Given the description of an element on the screen output the (x, y) to click on. 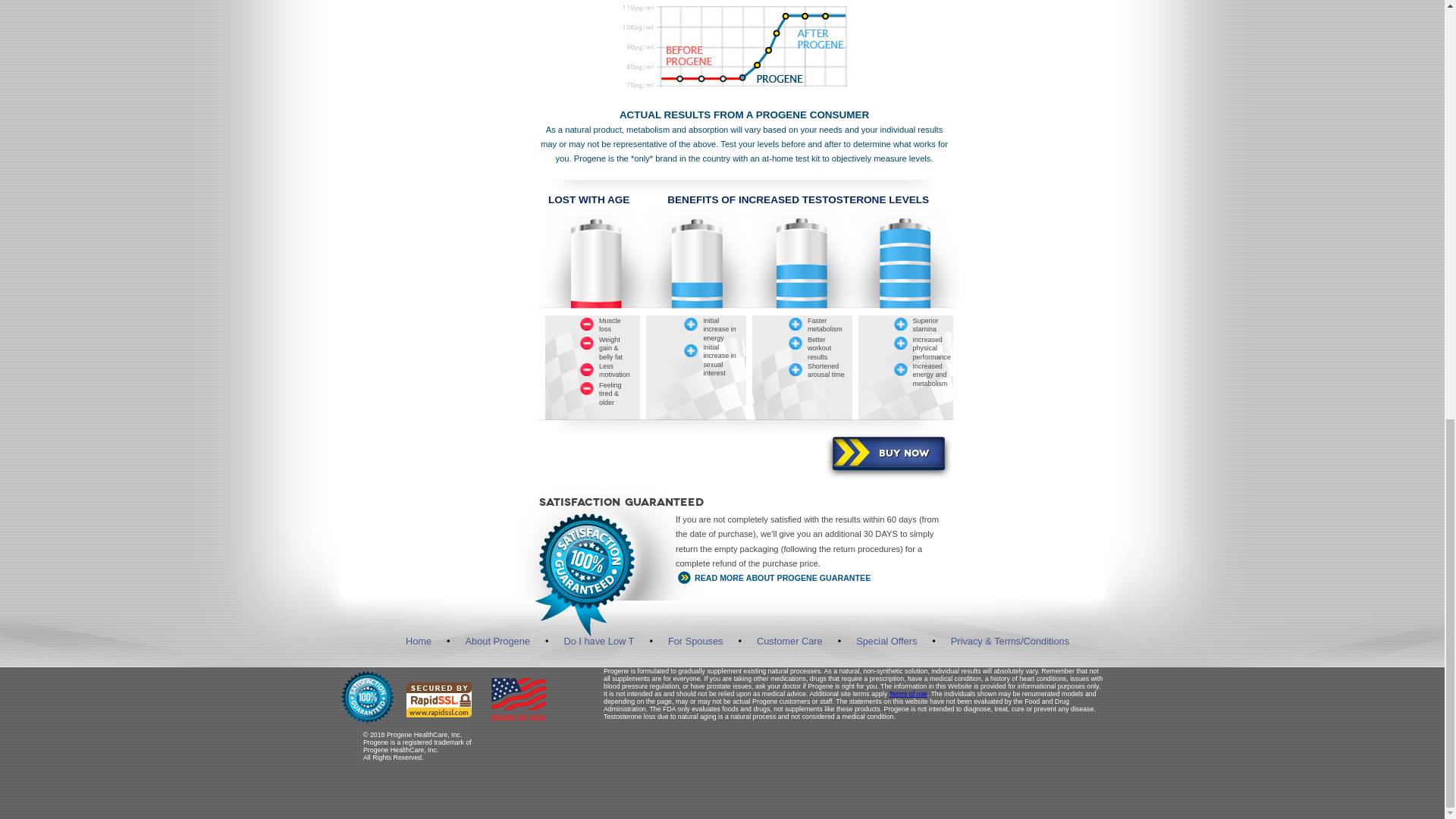
READ MORE ABOUT PROGENE GUARANTEE (812, 578)
BUY NOW (888, 451)
About Progene (497, 641)
Home (418, 641)
Special Offers (886, 641)
Terms of use (907, 693)
For Spouses (695, 641)
Do I have Low T (598, 641)
Customer Care (789, 641)
